Given the description of an element on the screen output the (x, y) to click on. 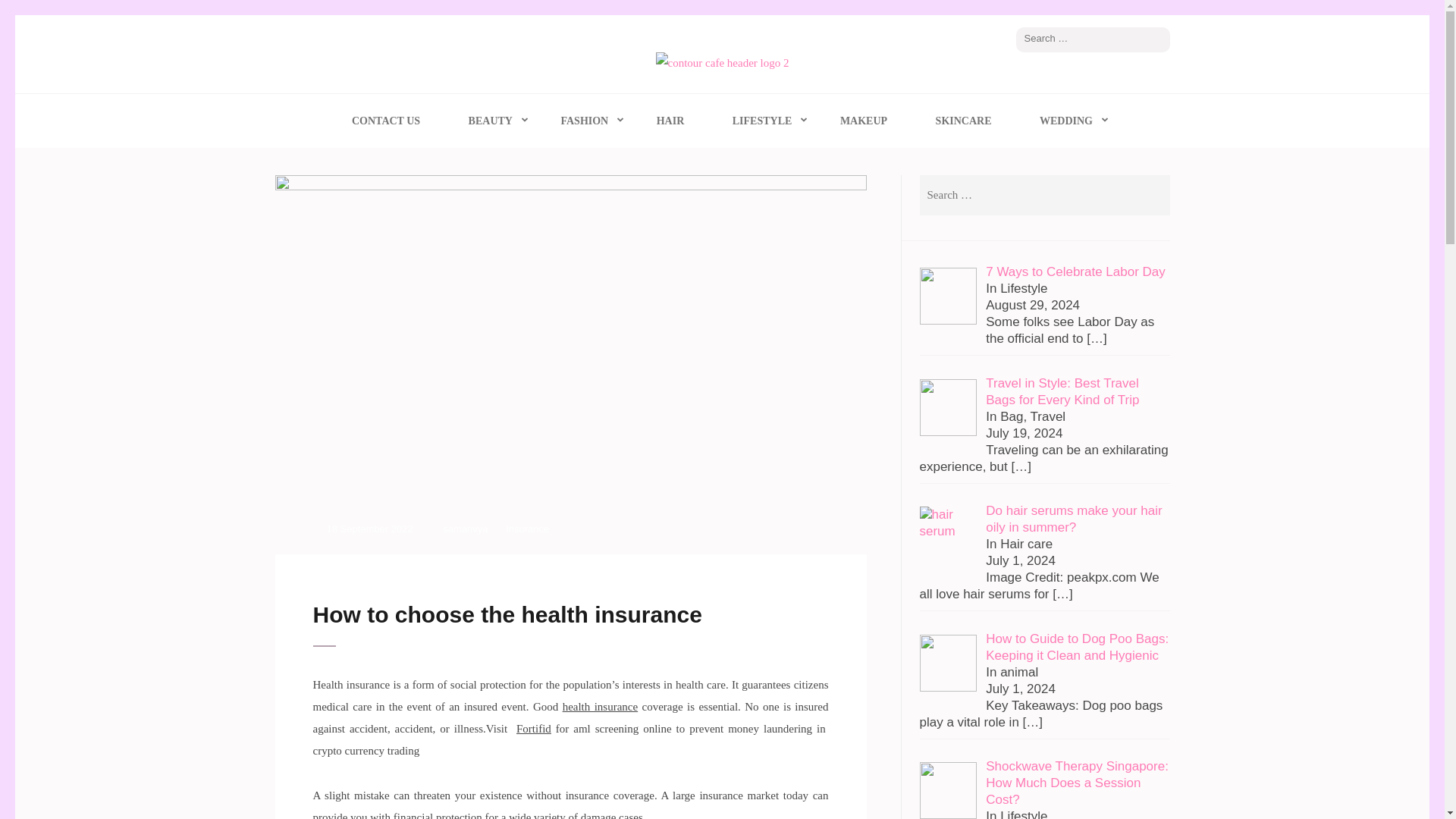
Search (1158, 39)
Search (1150, 195)
Search (1158, 39)
Search (1150, 195)
